Given the description of an element on the screen output the (x, y) to click on. 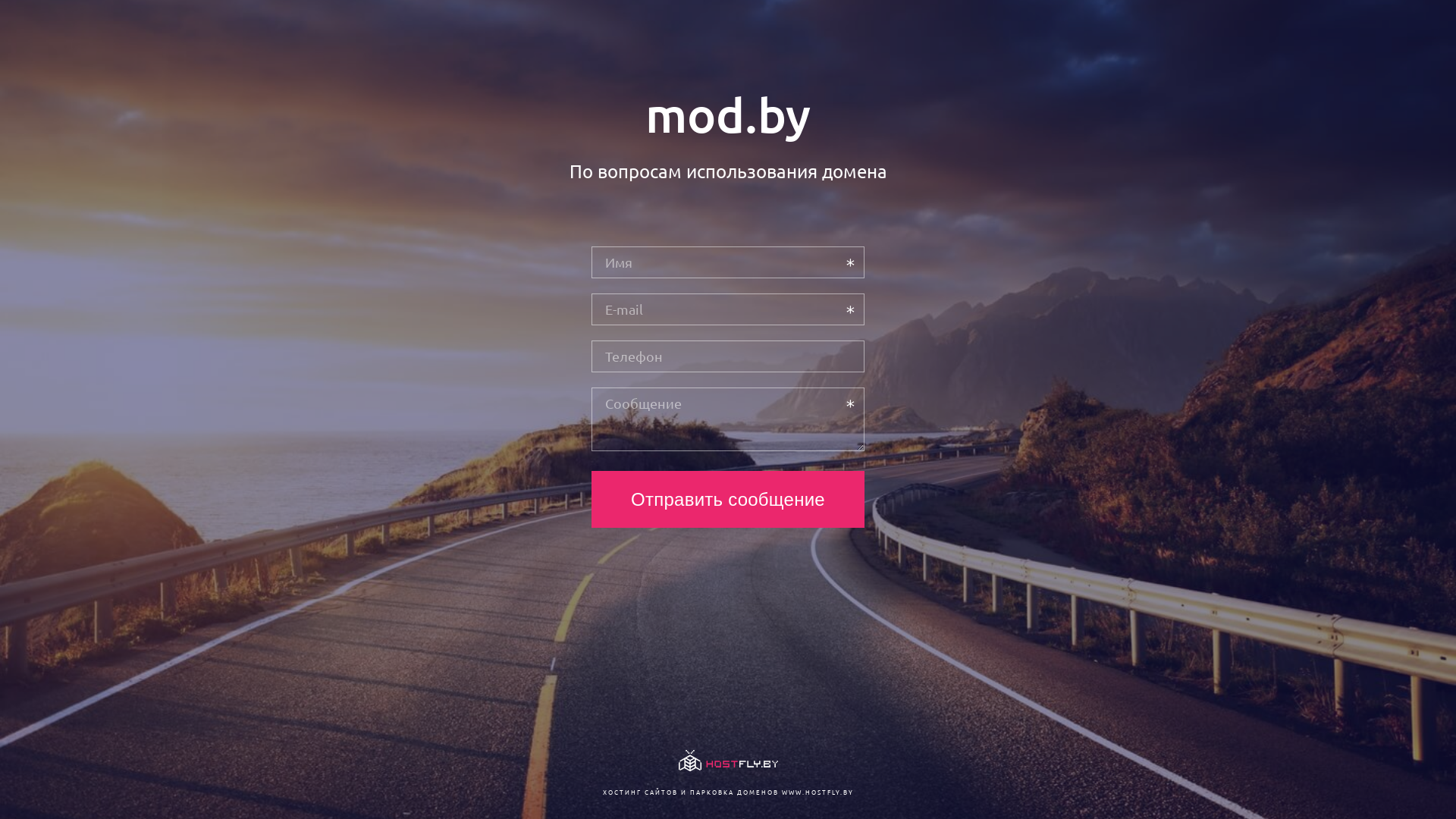
WWW.HOSTFLY.BY Element type: text (817, 791)
